Given the description of an element on the screen output the (x, y) to click on. 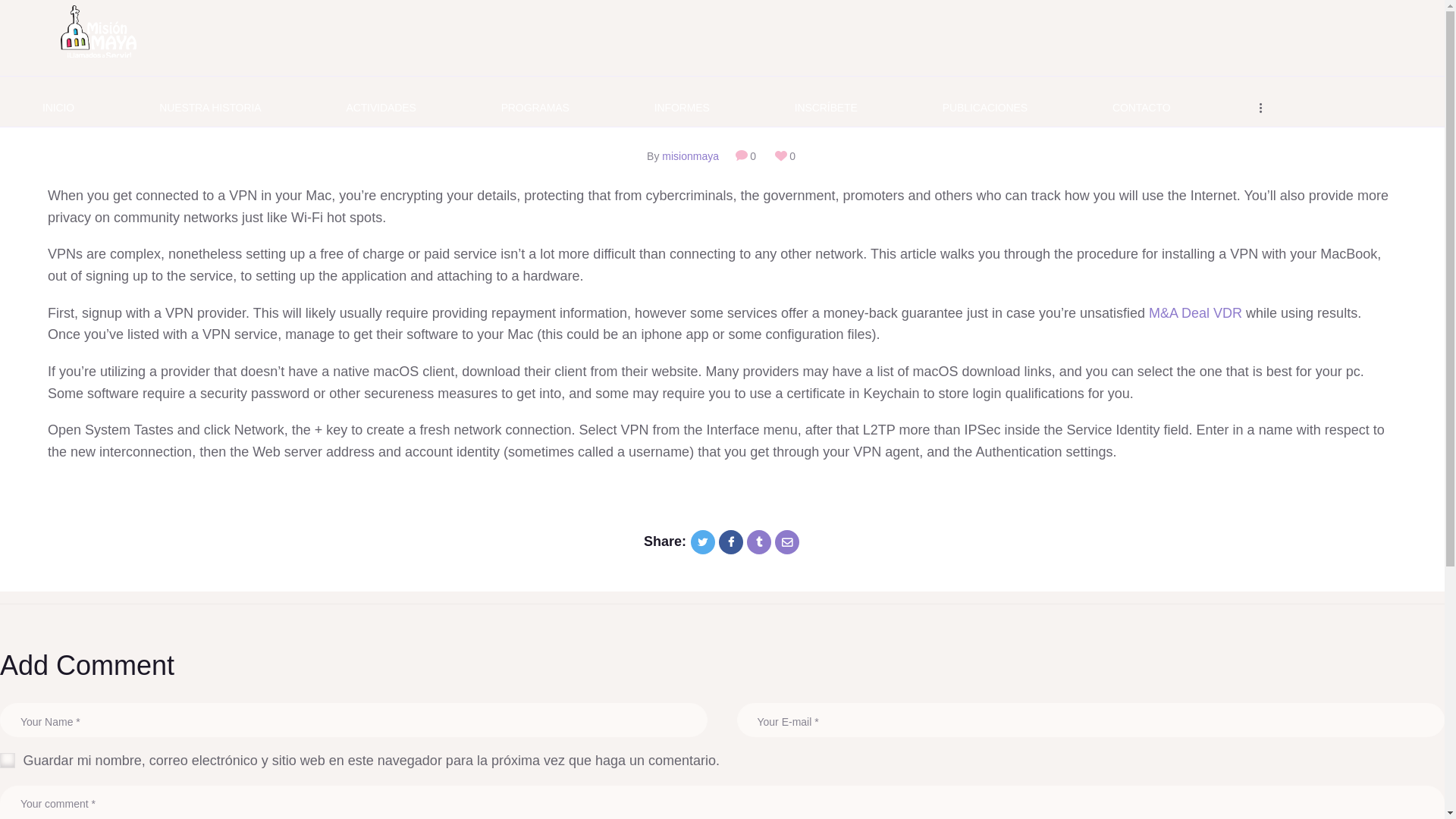
CONTACTO (1141, 108)
ACTIVIDADES (380, 108)
INICIO (57, 108)
PROGRAMAS (535, 108)
INFORMES (681, 108)
0 (784, 155)
PUBLICACIONES (984, 108)
misionmaya (689, 155)
Like (784, 155)
0 (750, 155)
NUESTRA HISTORIA (209, 108)
